Given the description of an element on the screen output the (x, y) to click on. 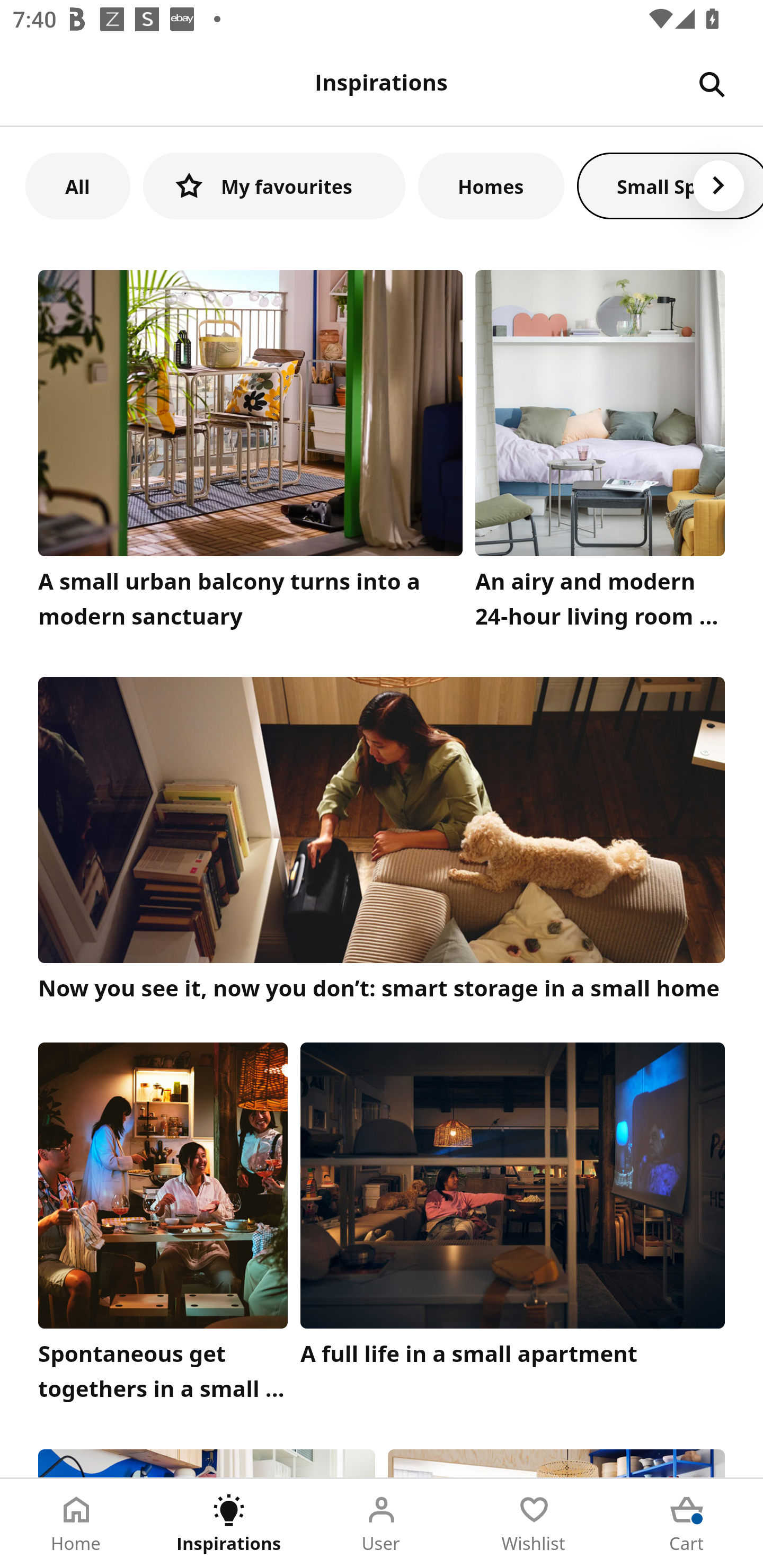
All (77, 185)
My favourites (274, 185)
Homes (491, 185)
An airy and modern 24-hour living room oasis (599, 453)
Spontaneous get togethers in a small apartment (162, 1226)
A full life in a small apartment (512, 1226)
Home
Tab 1 of 5 (76, 1522)
Inspirations
Tab 2 of 5 (228, 1522)
User
Tab 3 of 5 (381, 1522)
Wishlist
Tab 4 of 5 (533, 1522)
Cart
Tab 5 of 5 (686, 1522)
